Given the description of an element on the screen output the (x, y) to click on. 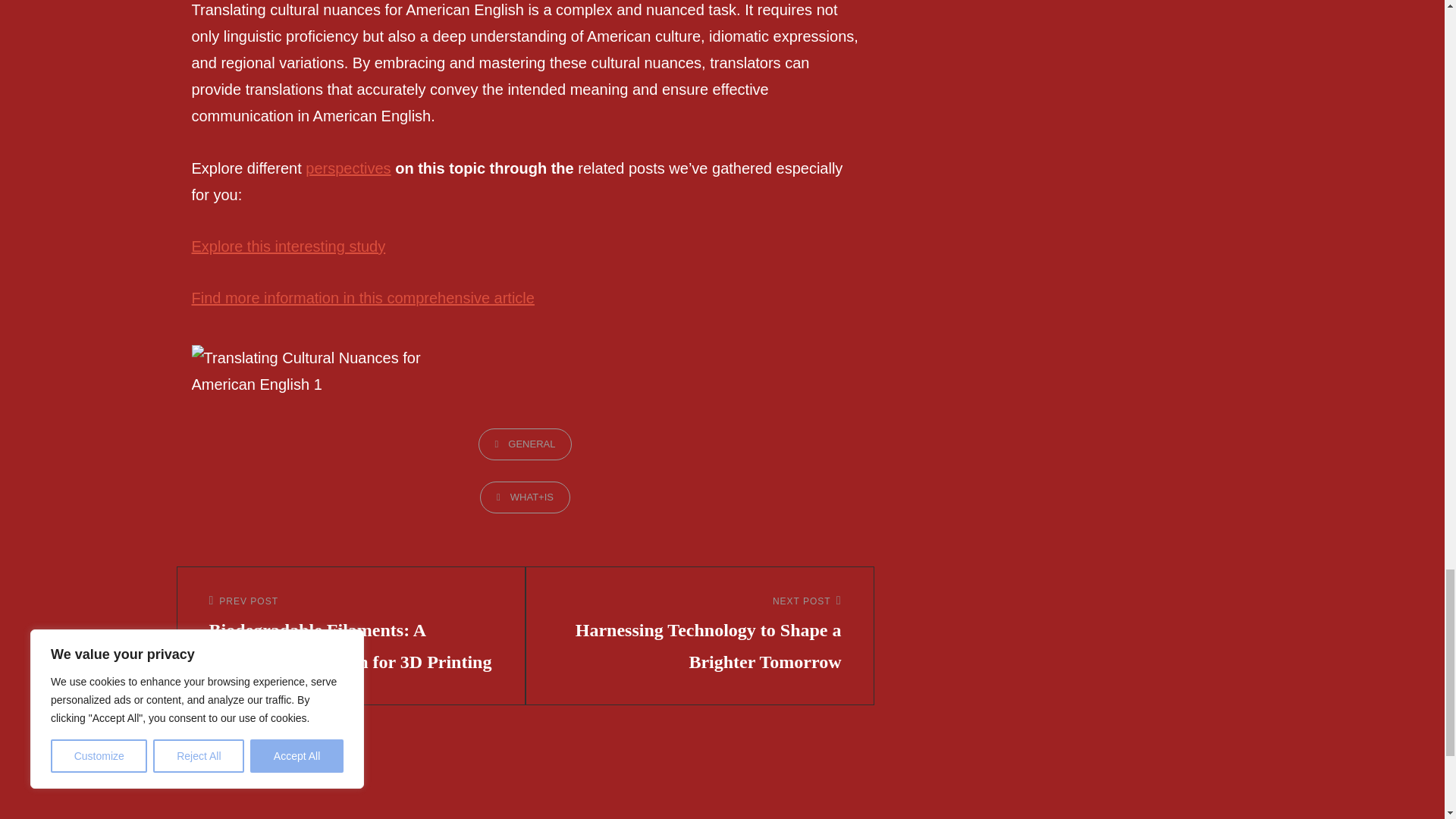
Find more information in this comprehensive article (362, 297)
perspectives (347, 167)
GENERAL (525, 443)
Explore this interesting study (287, 246)
